Given the description of an element on the screen output the (x, y) to click on. 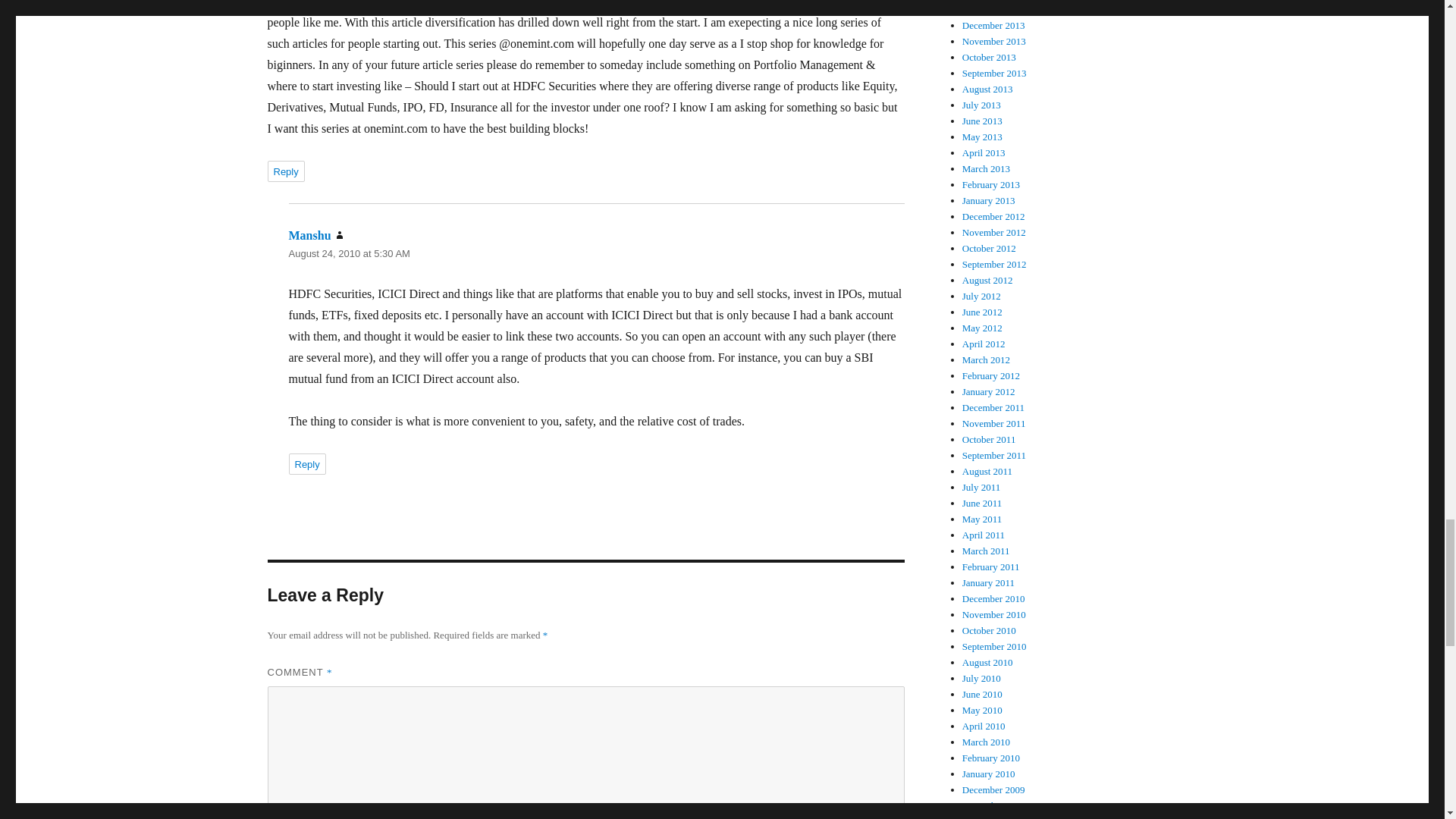
Manshu (309, 235)
Reply (306, 464)
August 24, 2010 at 5:30 AM (348, 253)
Reply (285, 170)
